Given the description of an element on the screen output the (x, y) to click on. 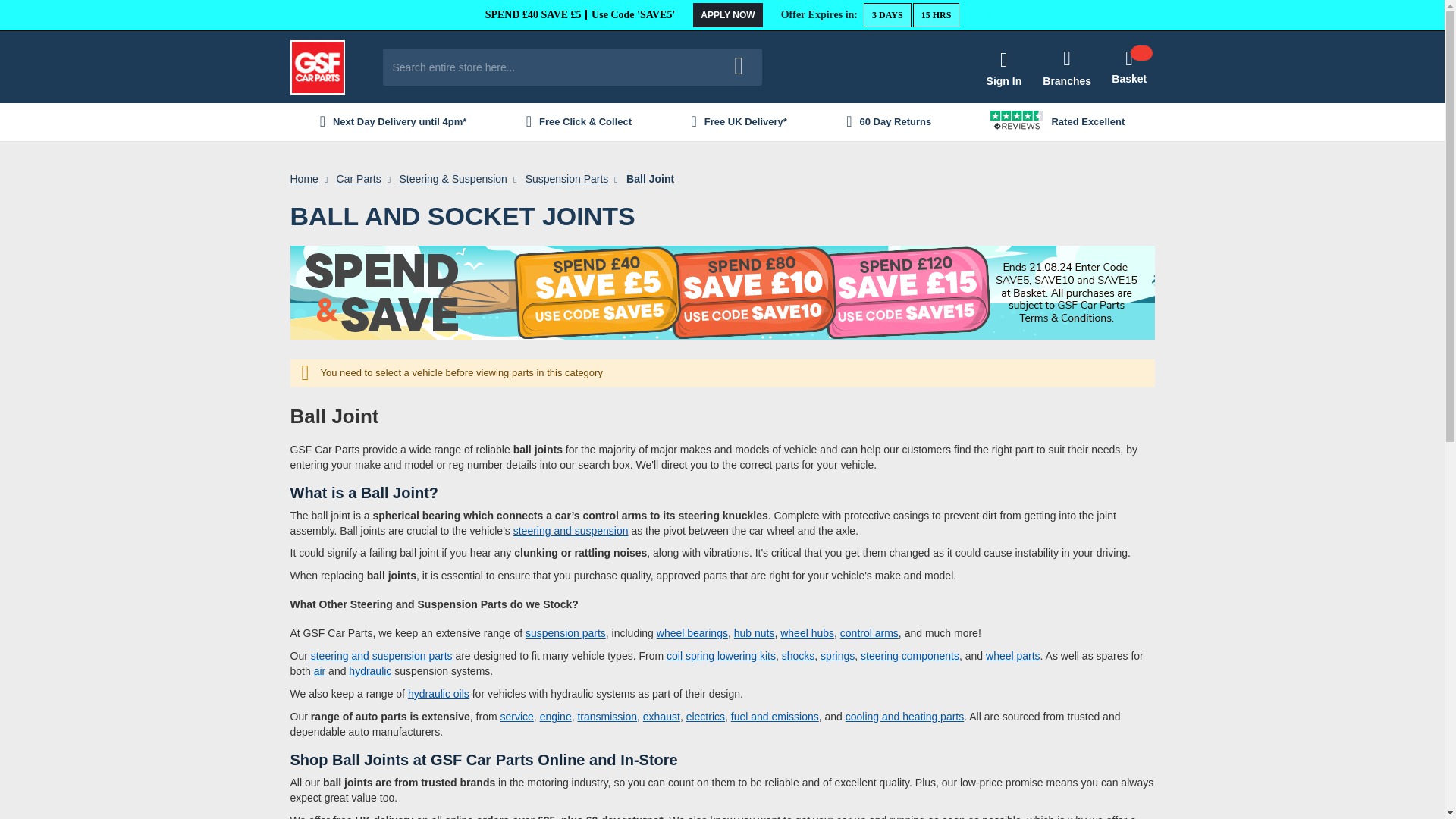
Branches (1066, 67)
APPLY NOW (727, 15)
Rated Excellent (1057, 122)
Car Parts (358, 179)
Sign In (1004, 67)
Go to Home Page (303, 179)
Home (303, 179)
Basket (1128, 67)
60 Day Returns (888, 122)
